Given the description of an element on the screen output the (x, y) to click on. 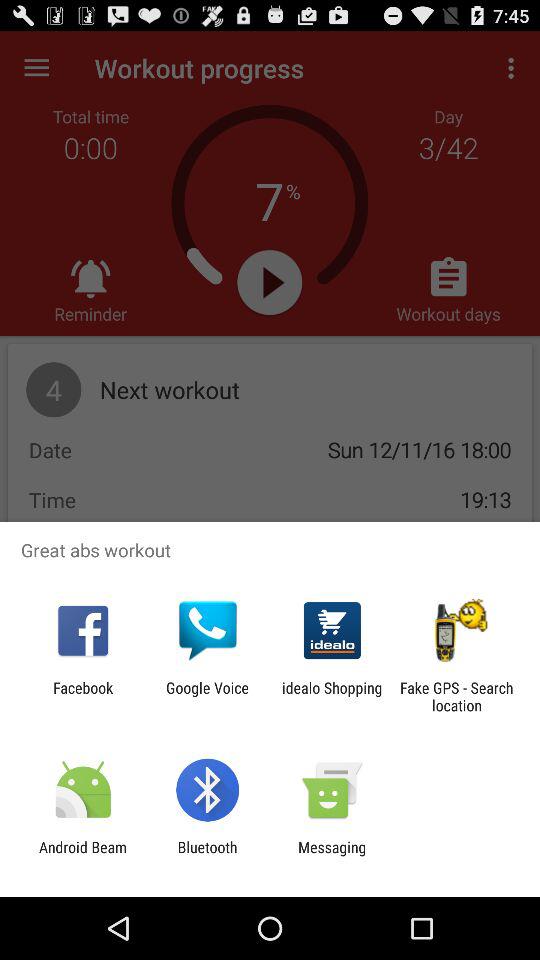
open the item to the right of facebook icon (207, 696)
